Given the description of an element on the screen output the (x, y) to click on. 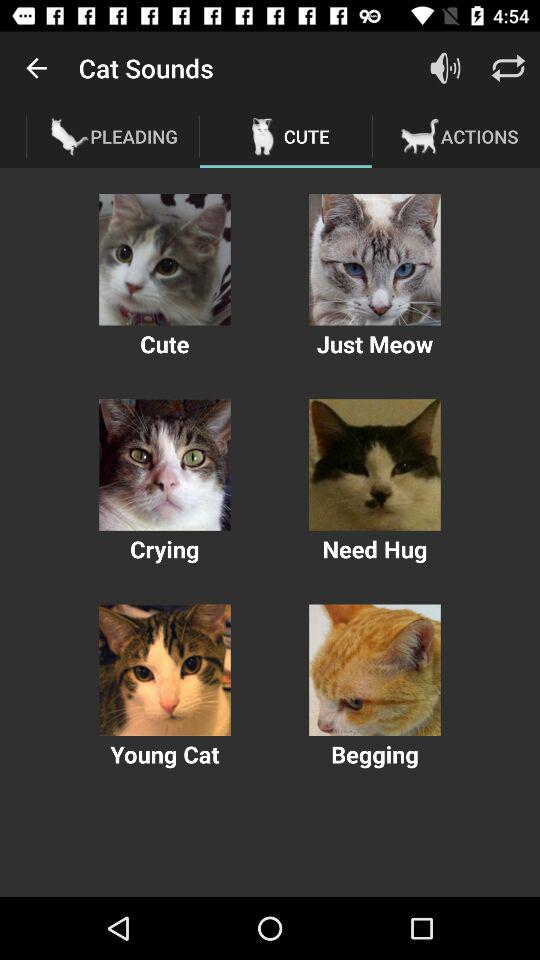
crying options (164, 464)
